Given the description of an element on the screen output the (x, y) to click on. 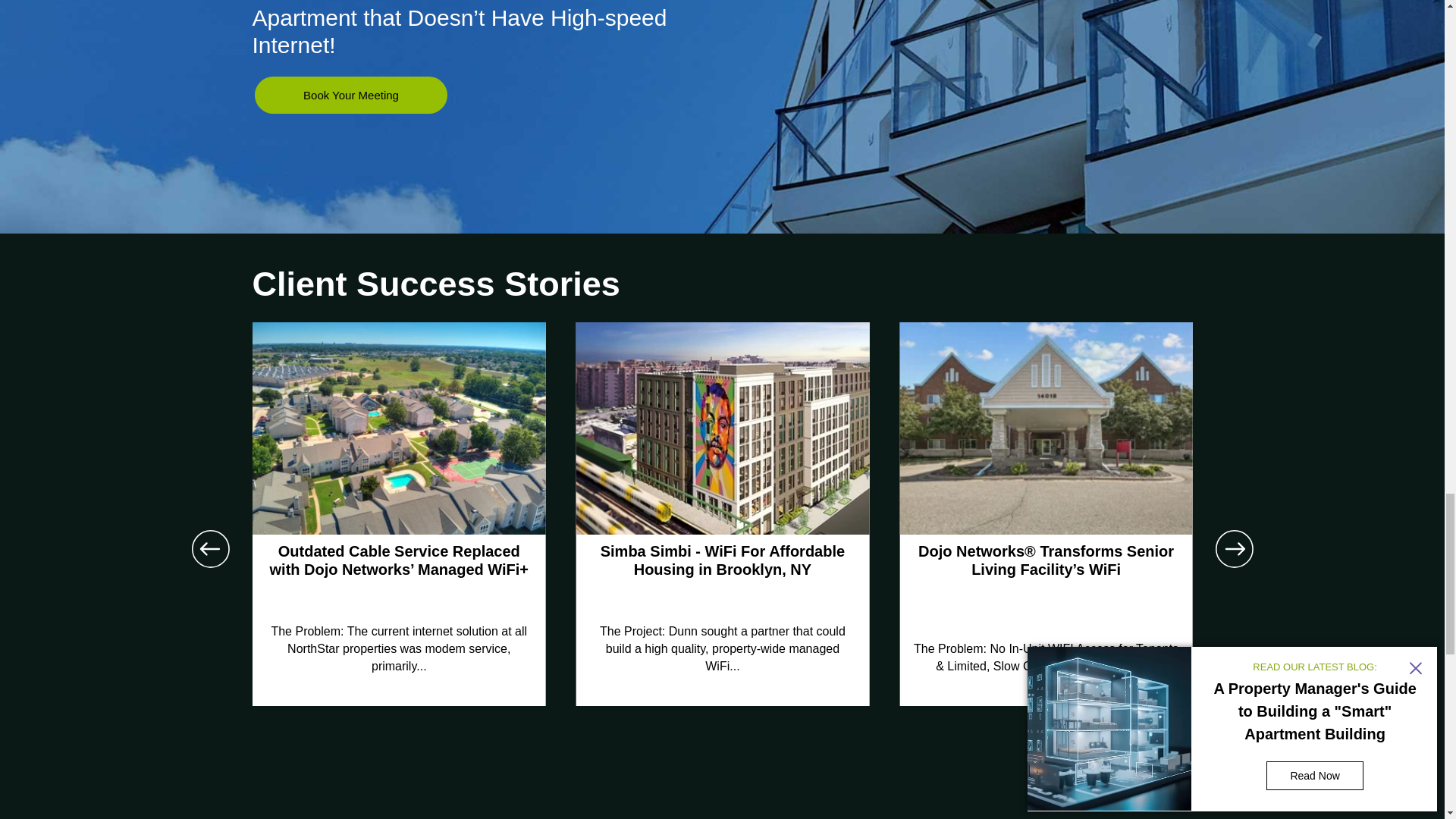
Embedded CTA (349, 94)
